Given the description of an element on the screen output the (x, y) to click on. 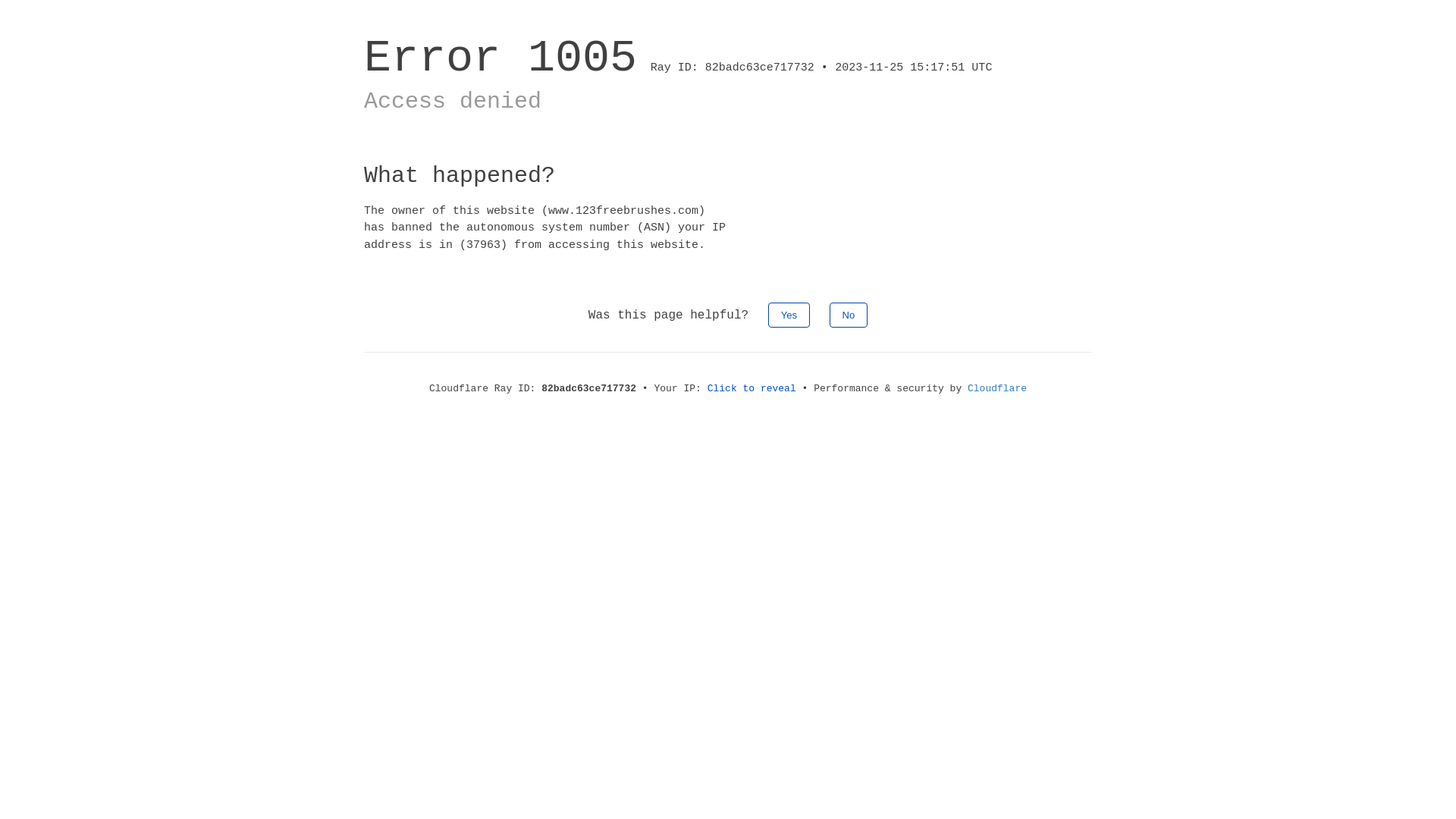
No Element type: text (848, 314)
Click to reveal Element type: text (751, 388)
Yes Element type: text (788, 314)
Cloudflare Element type: text (996, 388)
